Given the description of an element on the screen output the (x, y) to click on. 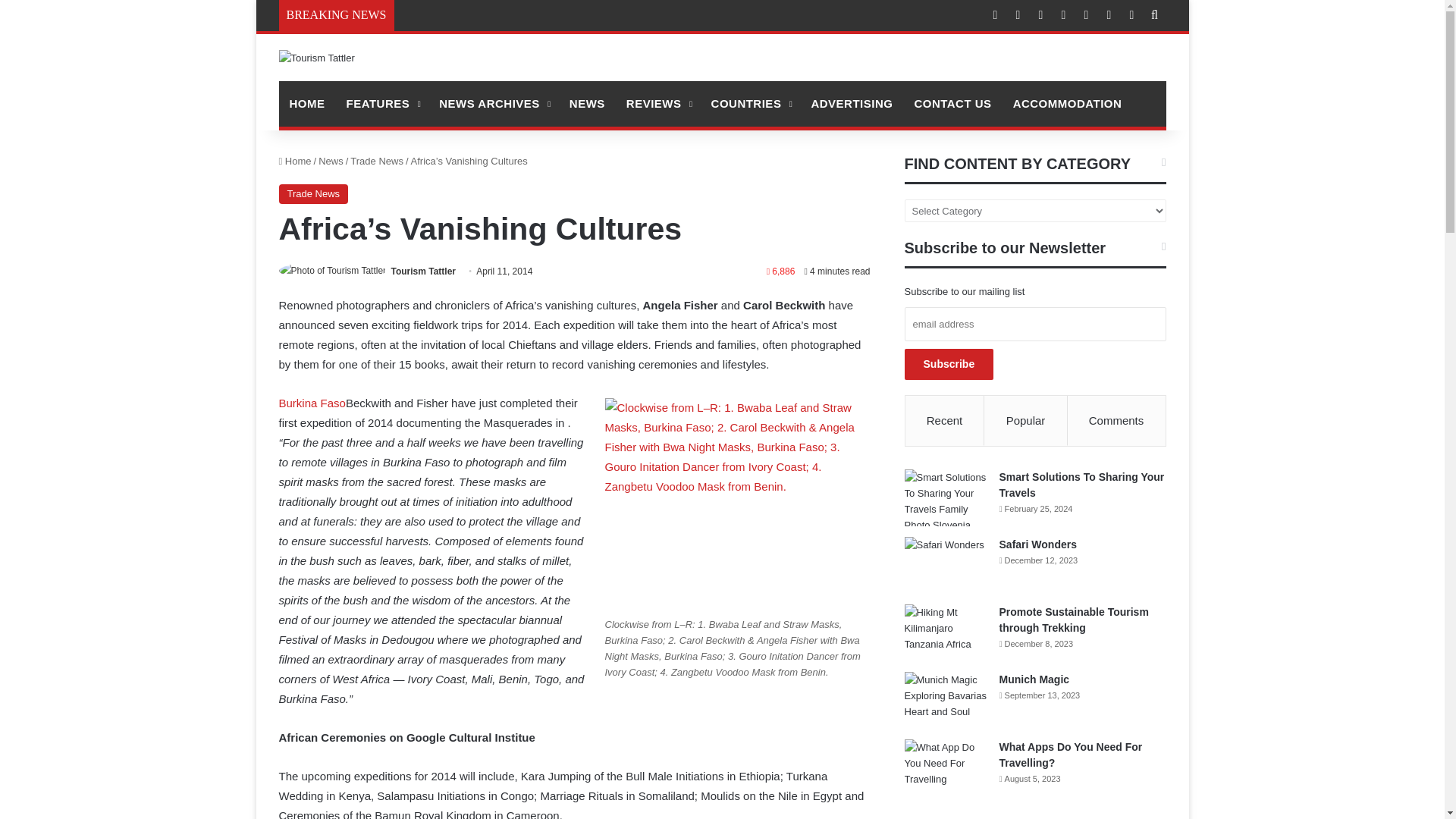
FEATURES (381, 103)
Tourism Tattler (317, 57)
Tourism Tattler (422, 271)
Subscribe (949, 364)
HOME (307, 103)
